Given the description of an element on the screen output the (x, y) to click on. 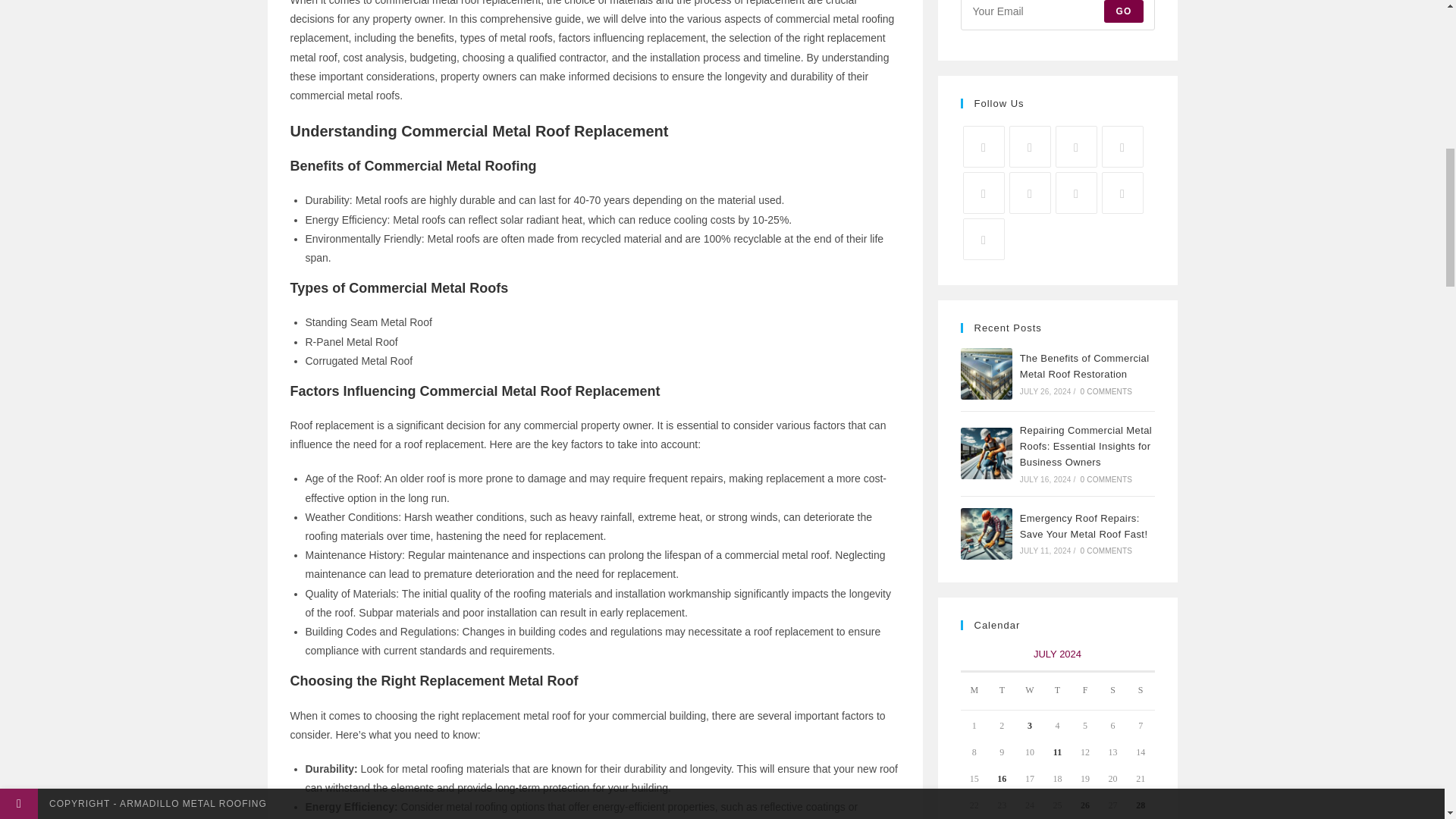
1 (739, 147)
The Benefits of Commercial Metal Roof Restoration (985, 373)
Emergency Roof Repairs: Save Your Metal Roof Fast! (985, 533)
